Given the description of an element on the screen output the (x, y) to click on. 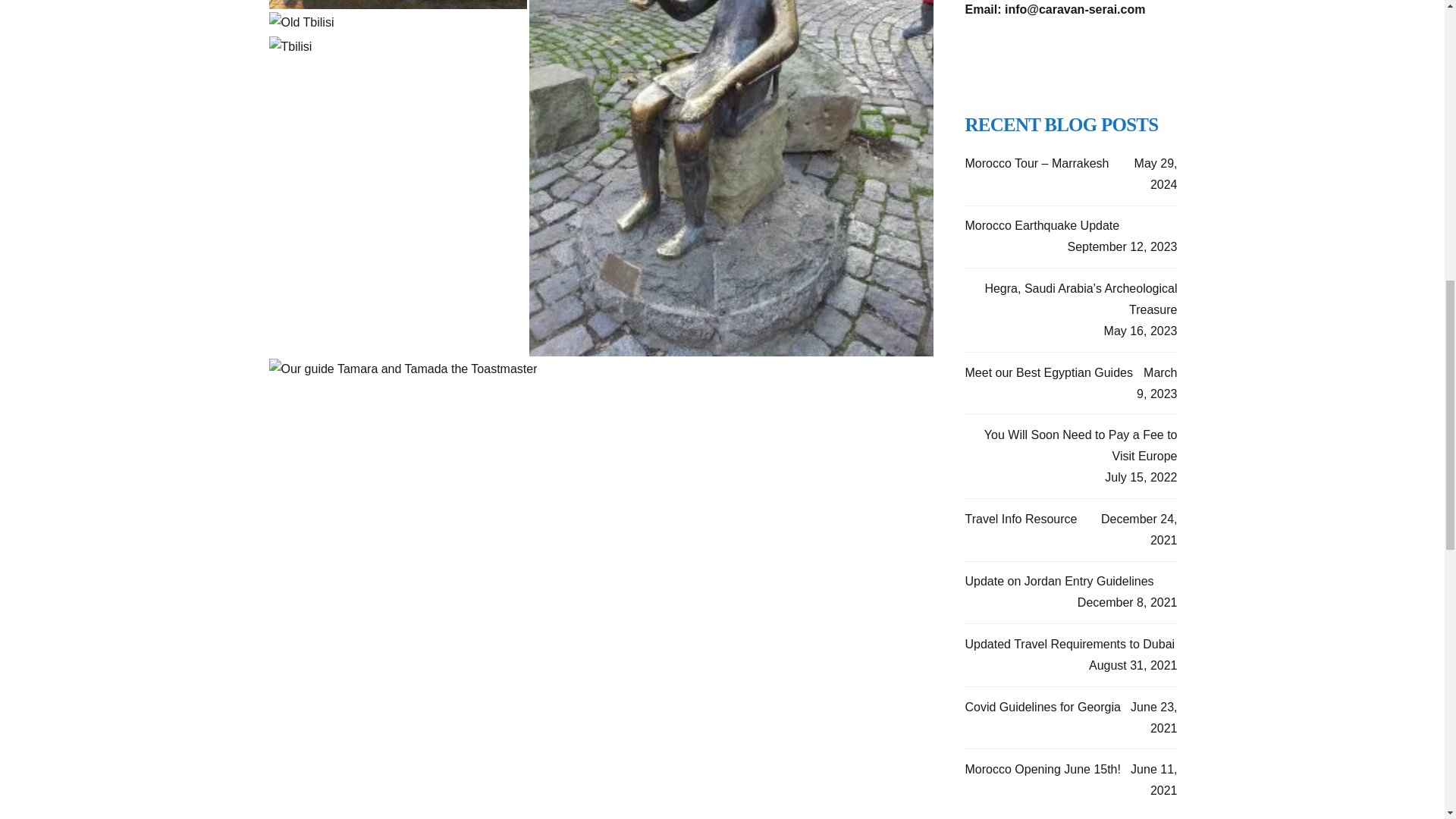
GeorgianWine1 (396, 4)
Tbilisi3 (289, 46)
Tbilisi10 (300, 22)
Tbilisi14 (402, 369)
